Given the description of an element on the screen output the (x, y) to click on. 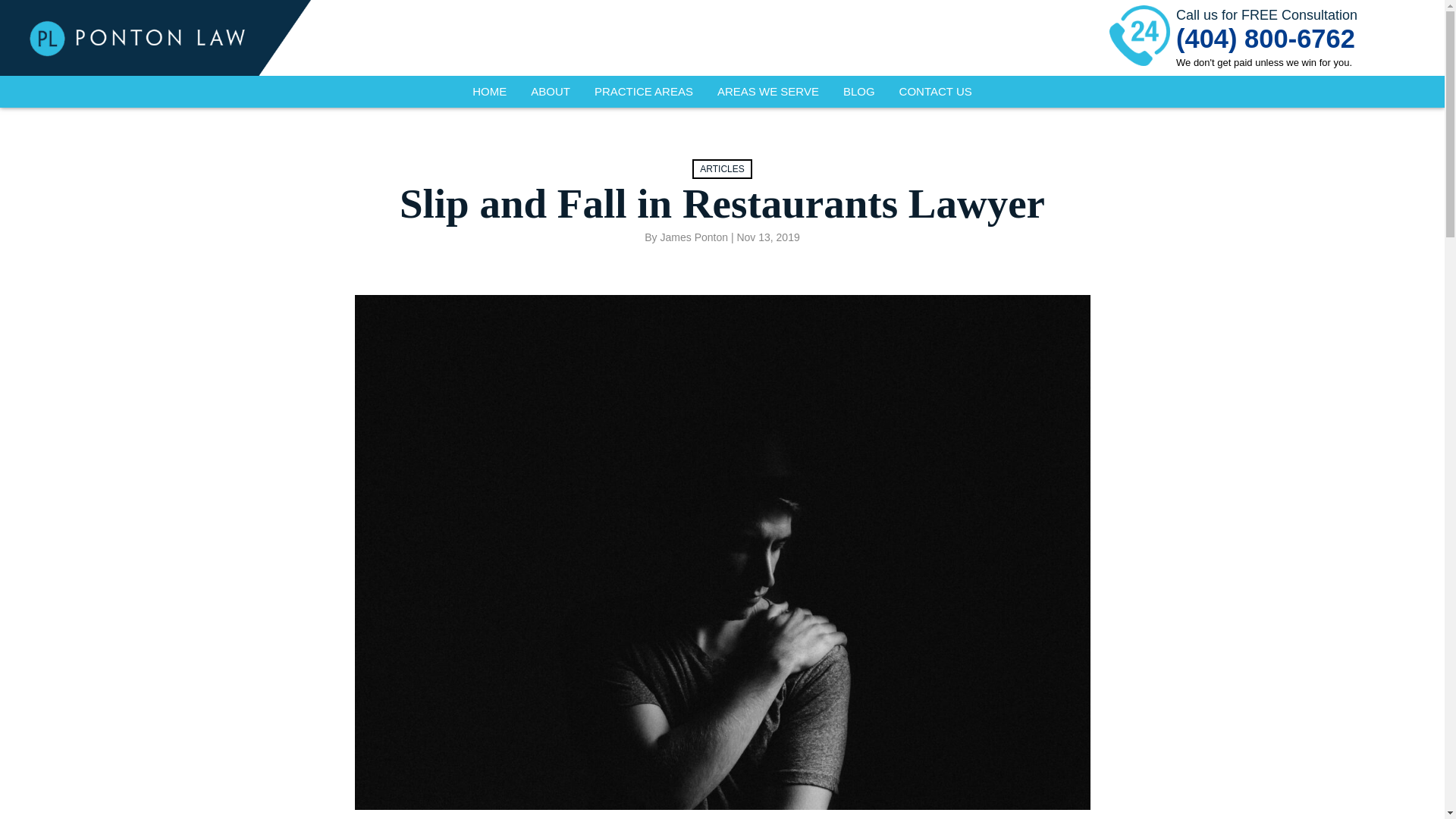
ABOUT (550, 91)
AREAS WE SERVE (767, 91)
HOME (488, 91)
PRACTICE AREAS (643, 91)
